Given the description of an element on the screen output the (x, y) to click on. 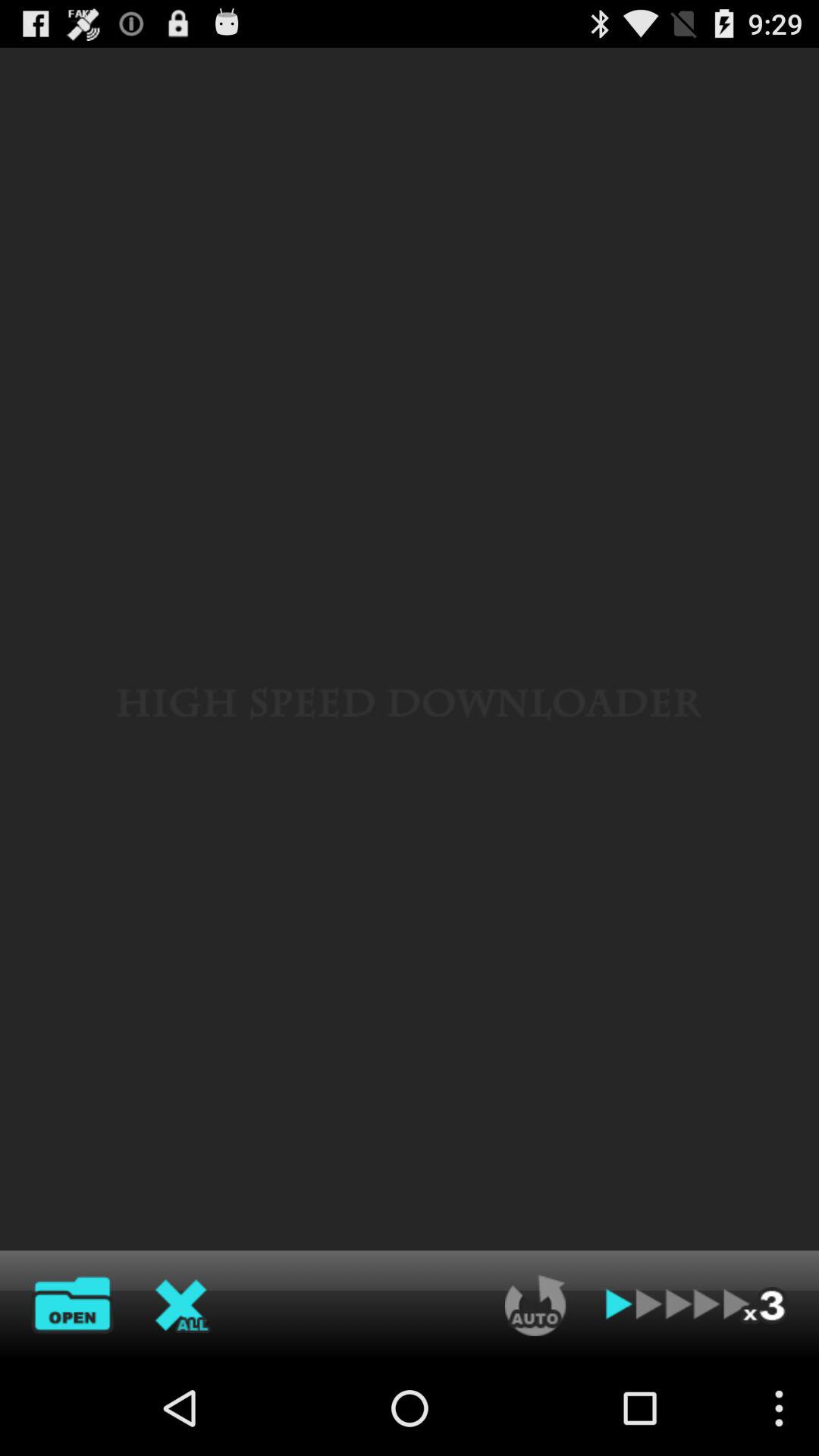
auto (535, 1305)
